Given the description of an element on the screen output the (x, y) to click on. 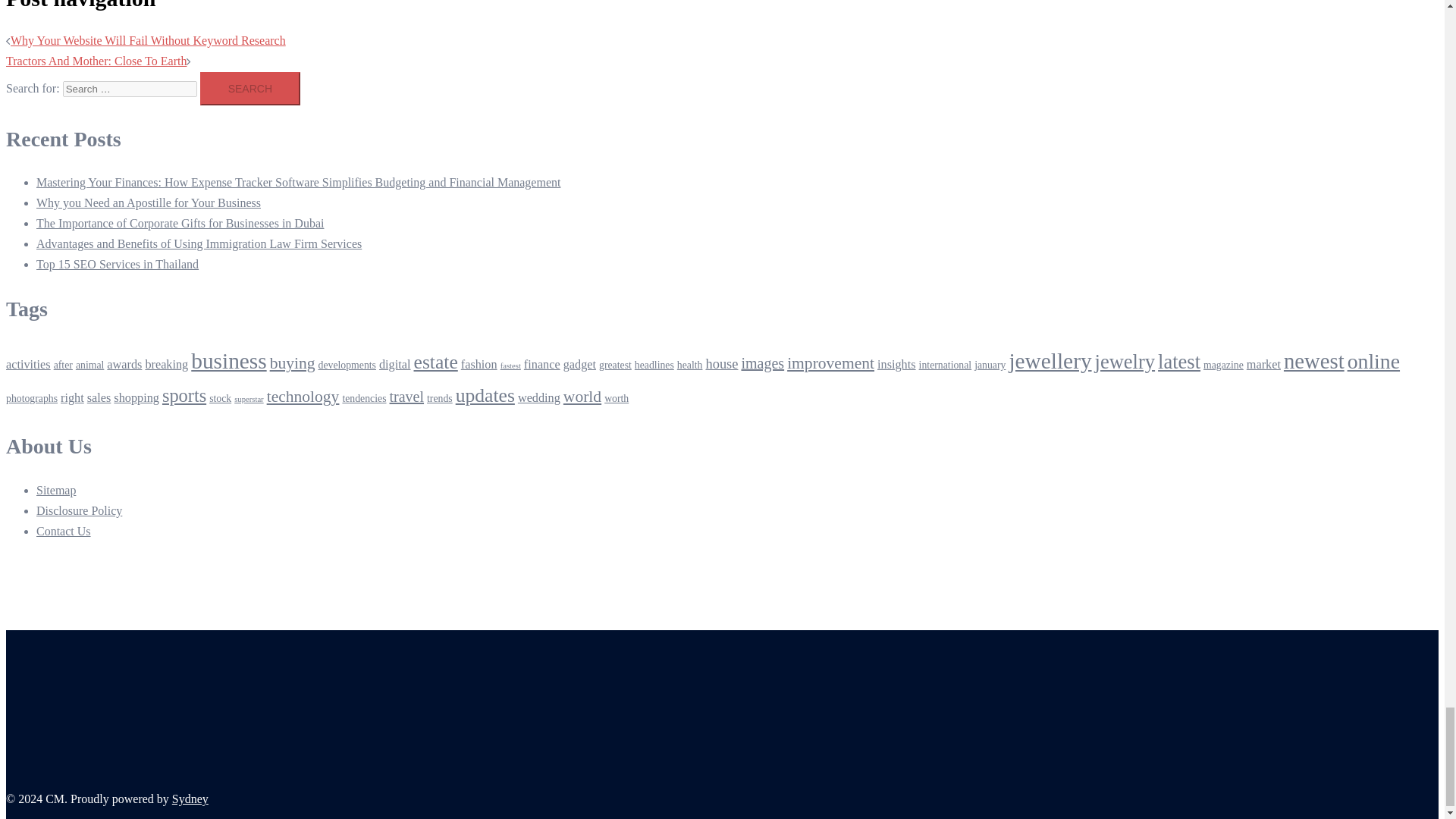
breaking (165, 364)
Search (249, 88)
digital (394, 364)
business (228, 360)
developments (346, 365)
activities (27, 364)
buying (292, 362)
animal (89, 365)
Search (249, 88)
after (62, 365)
Tractors And Mother: Close To Earth (95, 60)
Search (249, 88)
The Importance of Corporate Gifts for Businesses in Dubai (179, 223)
